Given the description of an element on the screen output the (x, y) to click on. 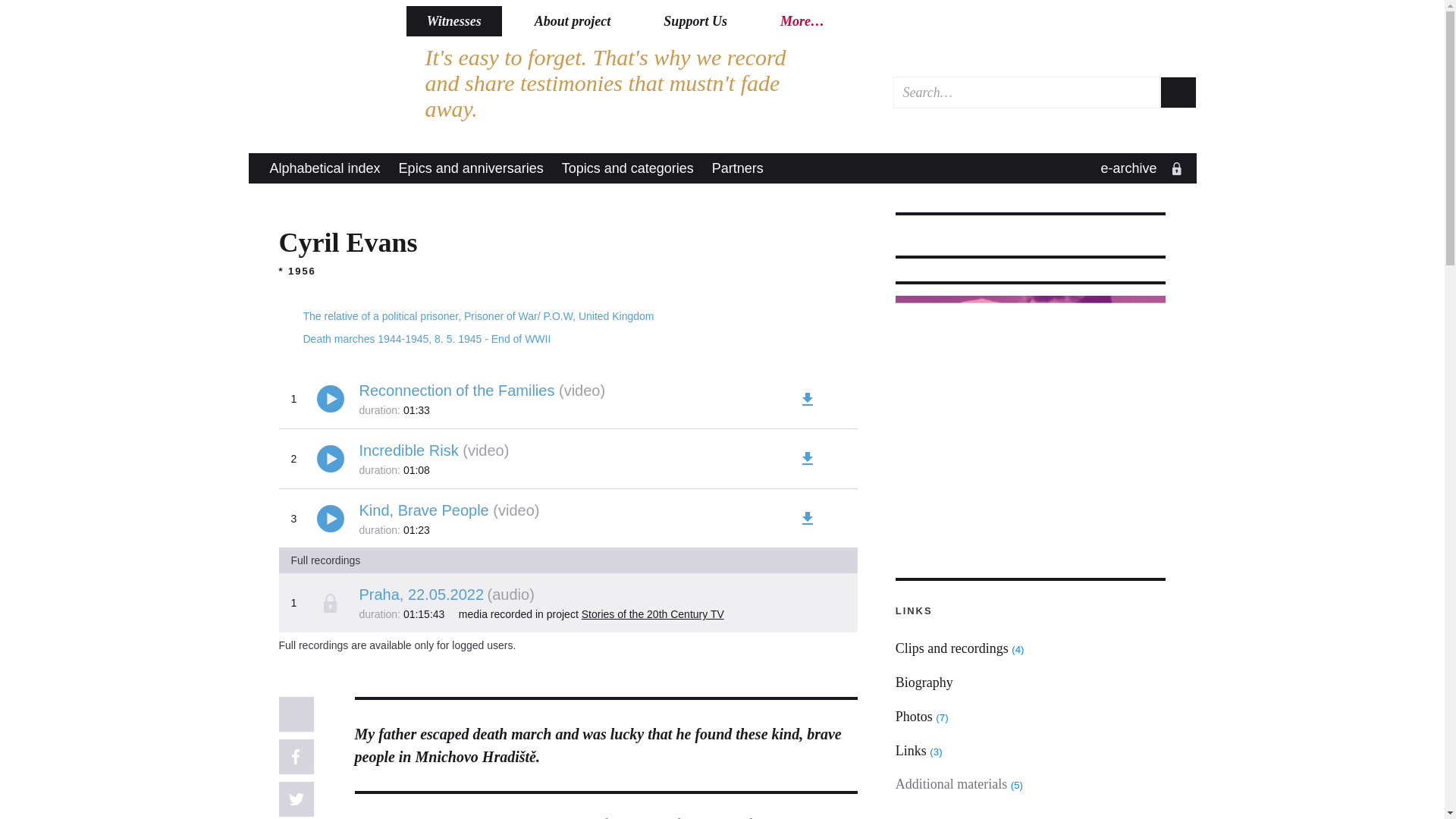
Home (318, 69)
Epics and anniversaries (471, 168)
Topics and categories (628, 168)
Download file (807, 458)
Download file (807, 602)
Death marches 1944-1945 (365, 338)
Support Us (695, 20)
8. 5. 1945 - End of WWII (491, 338)
Alphabetical index (325, 168)
e-archive (1138, 168)
